Given the description of an element on the screen output the (x, y) to click on. 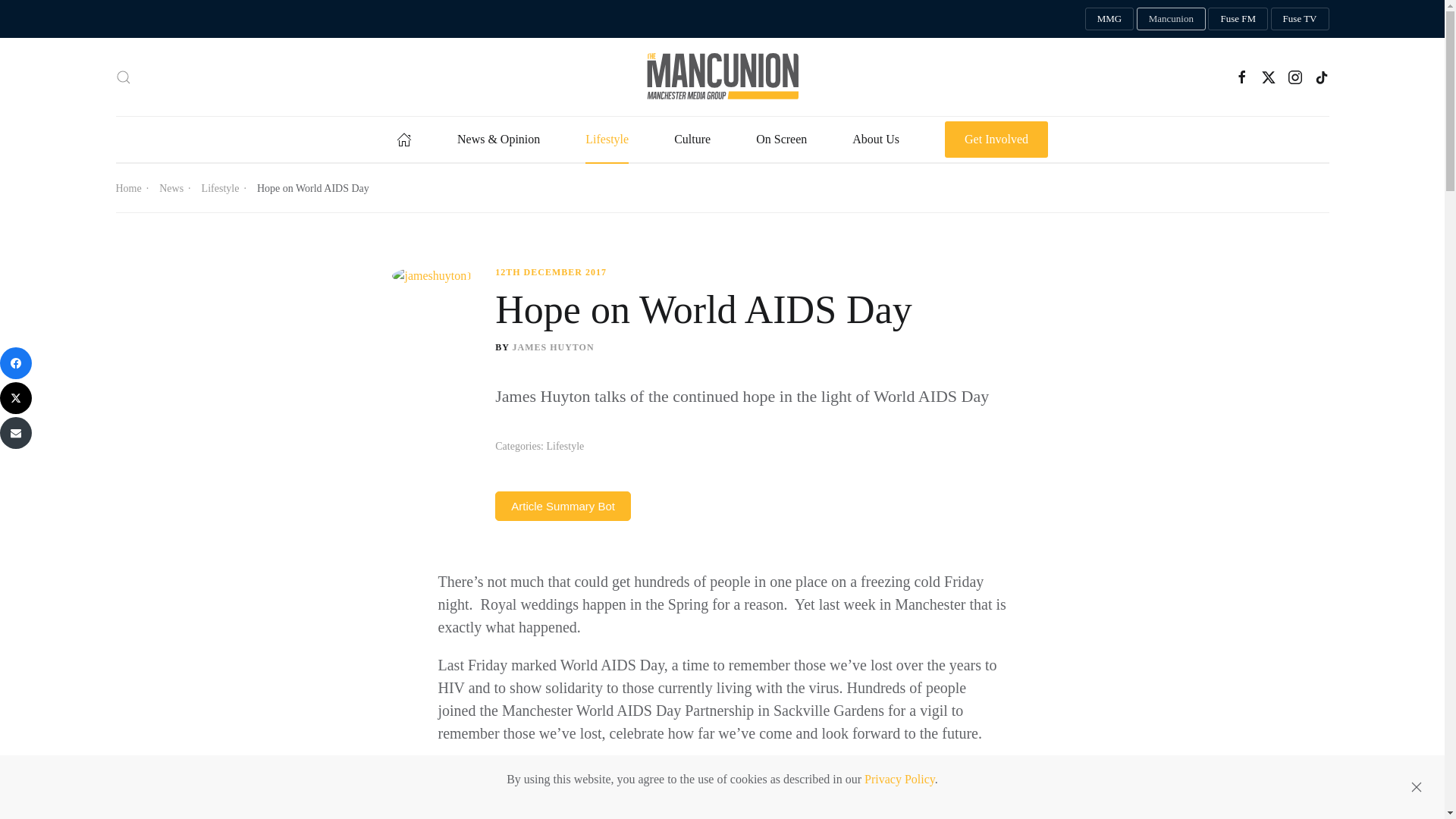
Manchester University Mancunion Newspaper (1171, 18)
Manchester Fuse TV (1300, 18)
Posts by James Huyton (553, 347)
Mancunion (1171, 18)
Manchester Fuse FM (1238, 18)
MMG (1109, 18)
Manchester Media Group (1109, 18)
Fuse FM (1238, 18)
Fuse TV (1300, 18)
